Given the description of an element on the screen output the (x, y) to click on. 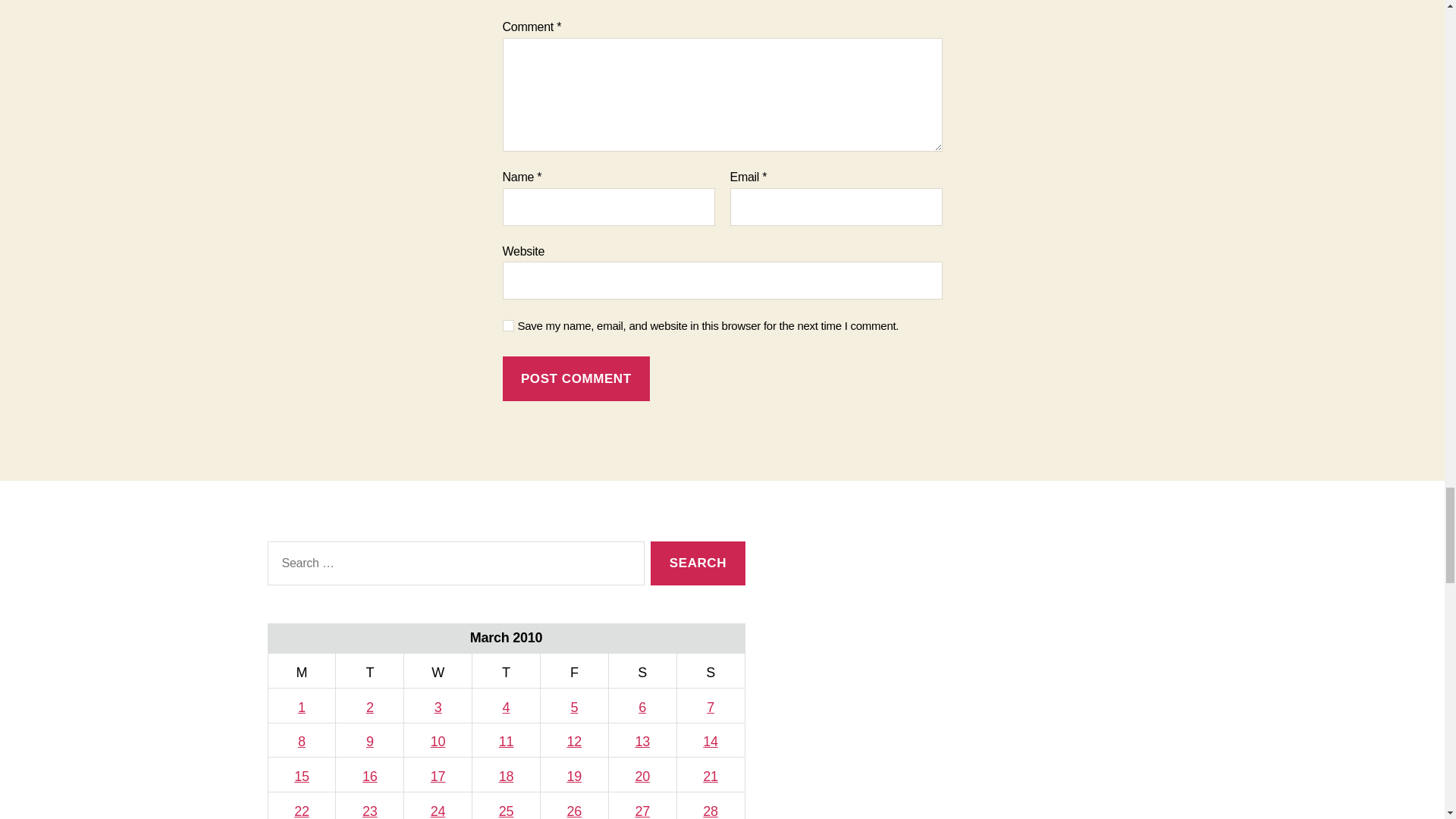
Search (697, 563)
yes (507, 325)
Post Comment (575, 378)
Search (697, 563)
